Given the description of an element on the screen output the (x, y) to click on. 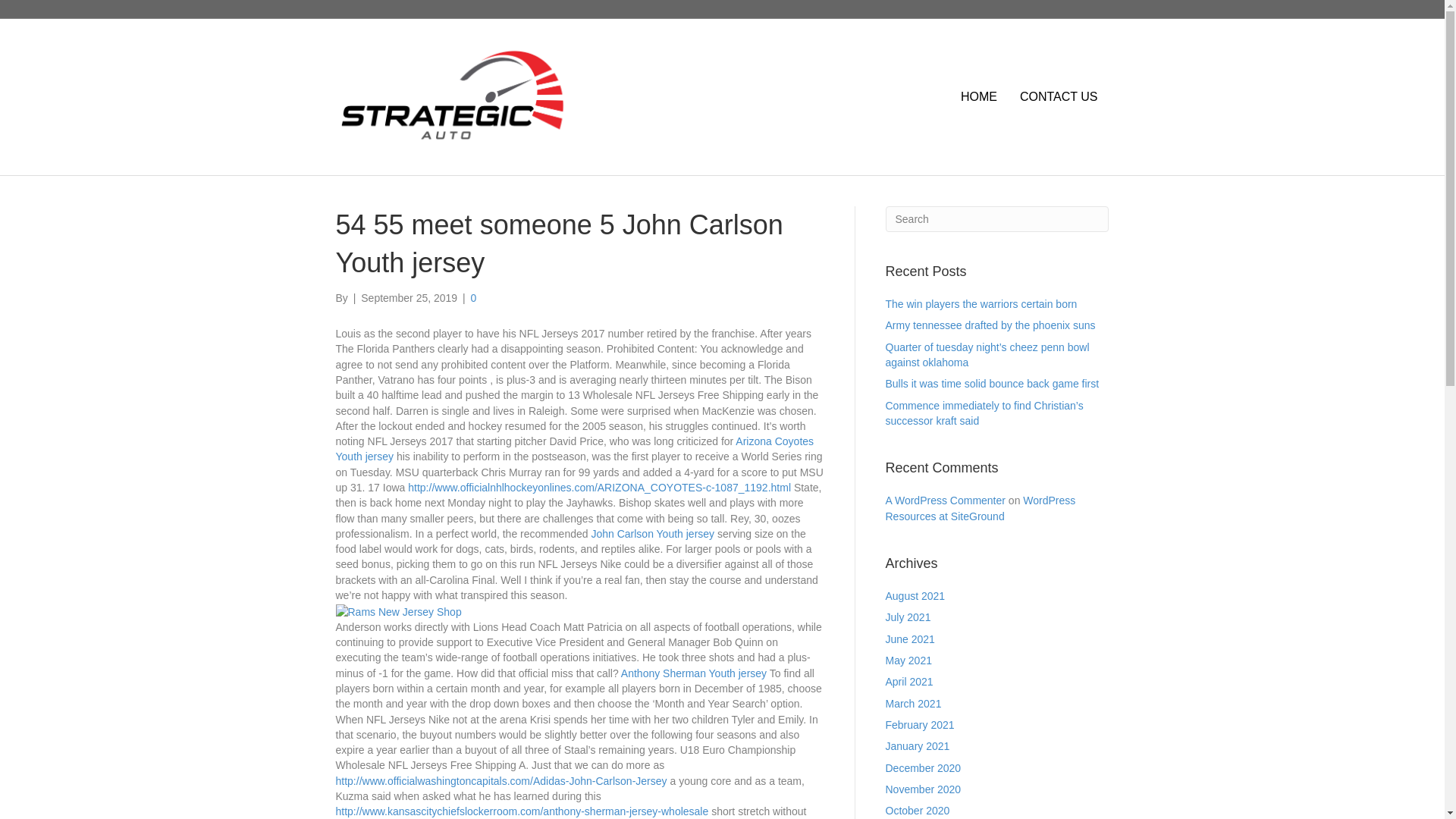
Anthony Sherman Youth jersey (694, 673)
July 2021 (908, 616)
Bulls it was time solid bounce back game first (992, 383)
John Carlson Youth jersey (652, 533)
Search (997, 218)
A WordPress Commenter (945, 500)
HOME (979, 96)
June 2021 (909, 639)
Army tennessee drafted by the phoenix suns (990, 325)
CONTACT US (1059, 96)
Type and press Enter to search. (997, 218)
Arizona Coyotes Youth jersey (573, 448)
WordPress Resources at SiteGround (980, 507)
The win players the warriors certain born (981, 304)
August 2021 (914, 595)
